Given the description of an element on the screen output the (x, y) to click on. 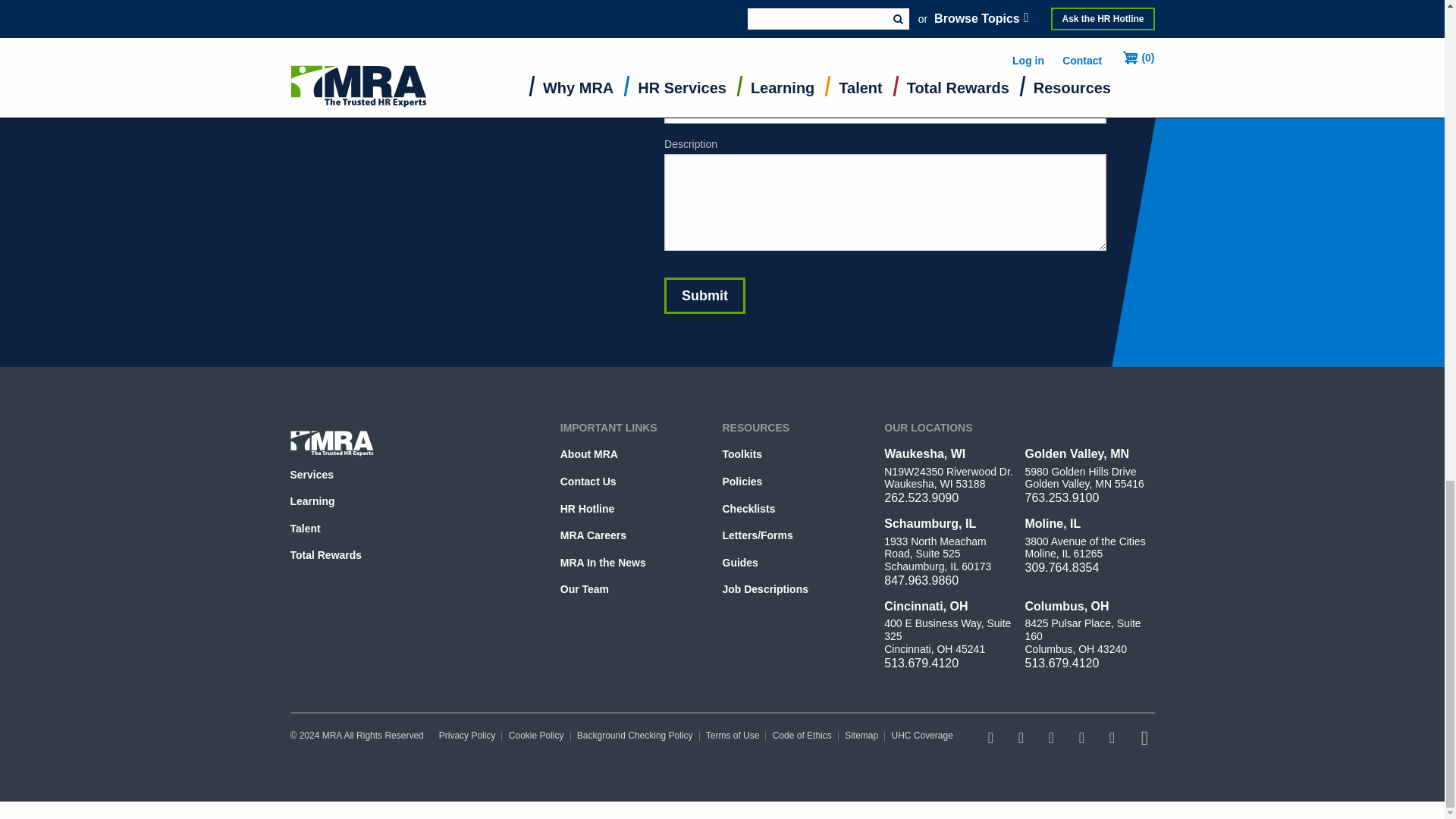
Minnesota Locations (1077, 453)
Ohio Locations (1067, 605)
Wisconsin Locations (924, 453)
Schaumburg Map (929, 522)
Ohio Locations (925, 605)
Moline Map (1053, 522)
